Given the description of an element on the screen output the (x, y) to click on. 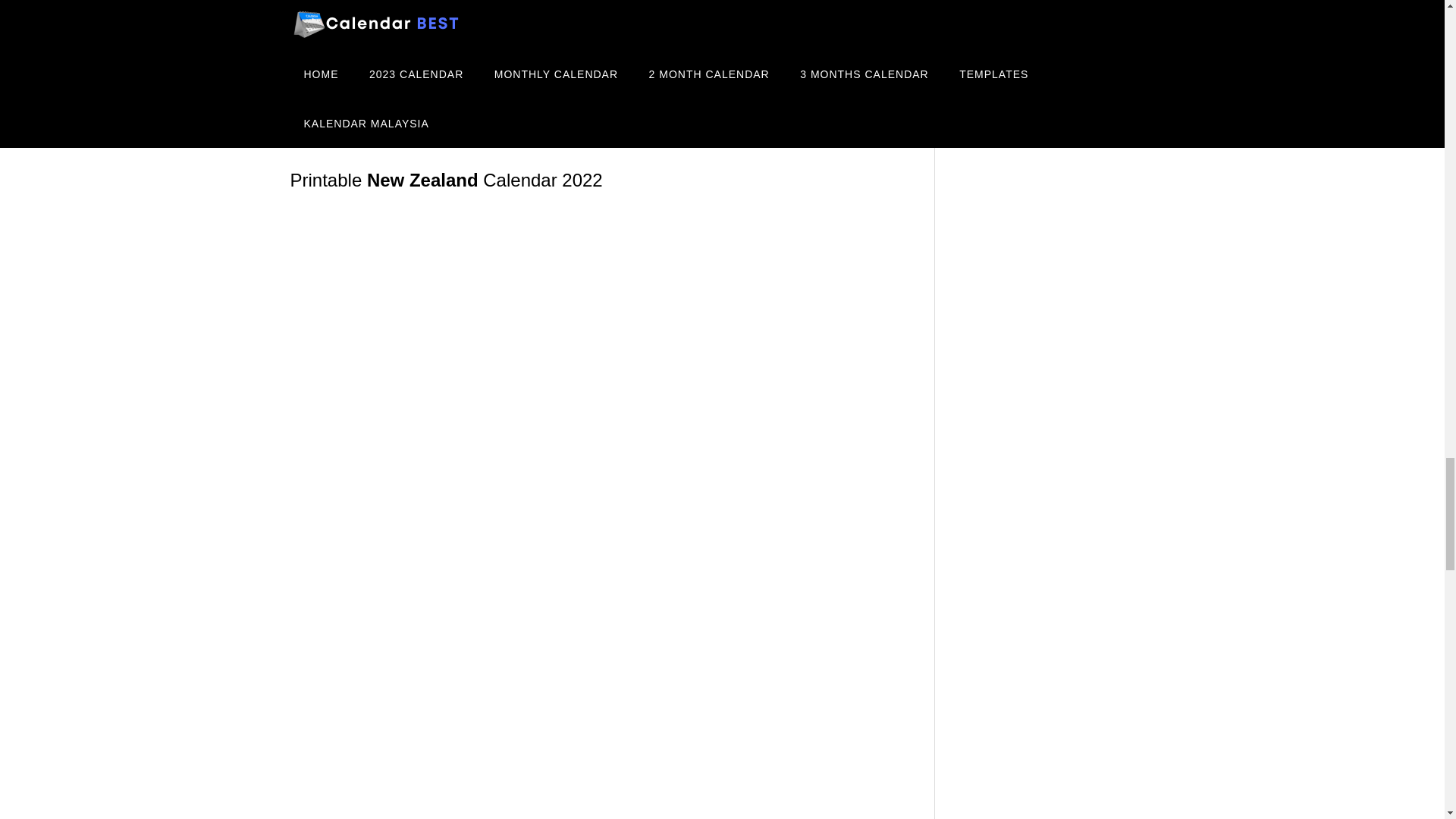
PDF (595, 29)
